Given the description of an element on the screen output the (x, y) to click on. 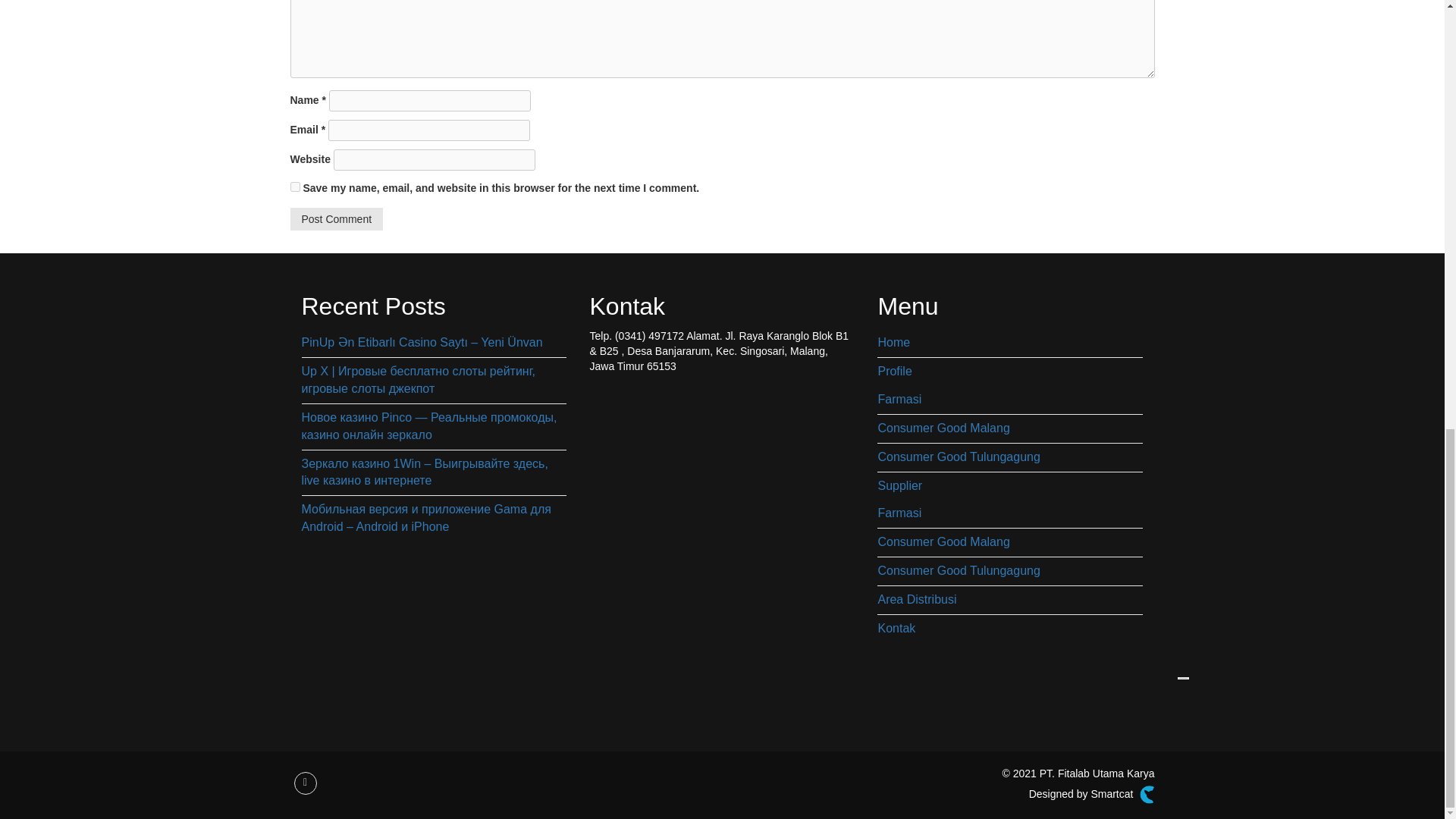
Post Comment (335, 219)
Post Comment (335, 219)
yes (294, 186)
